Given the description of an element on the screen output the (x, y) to click on. 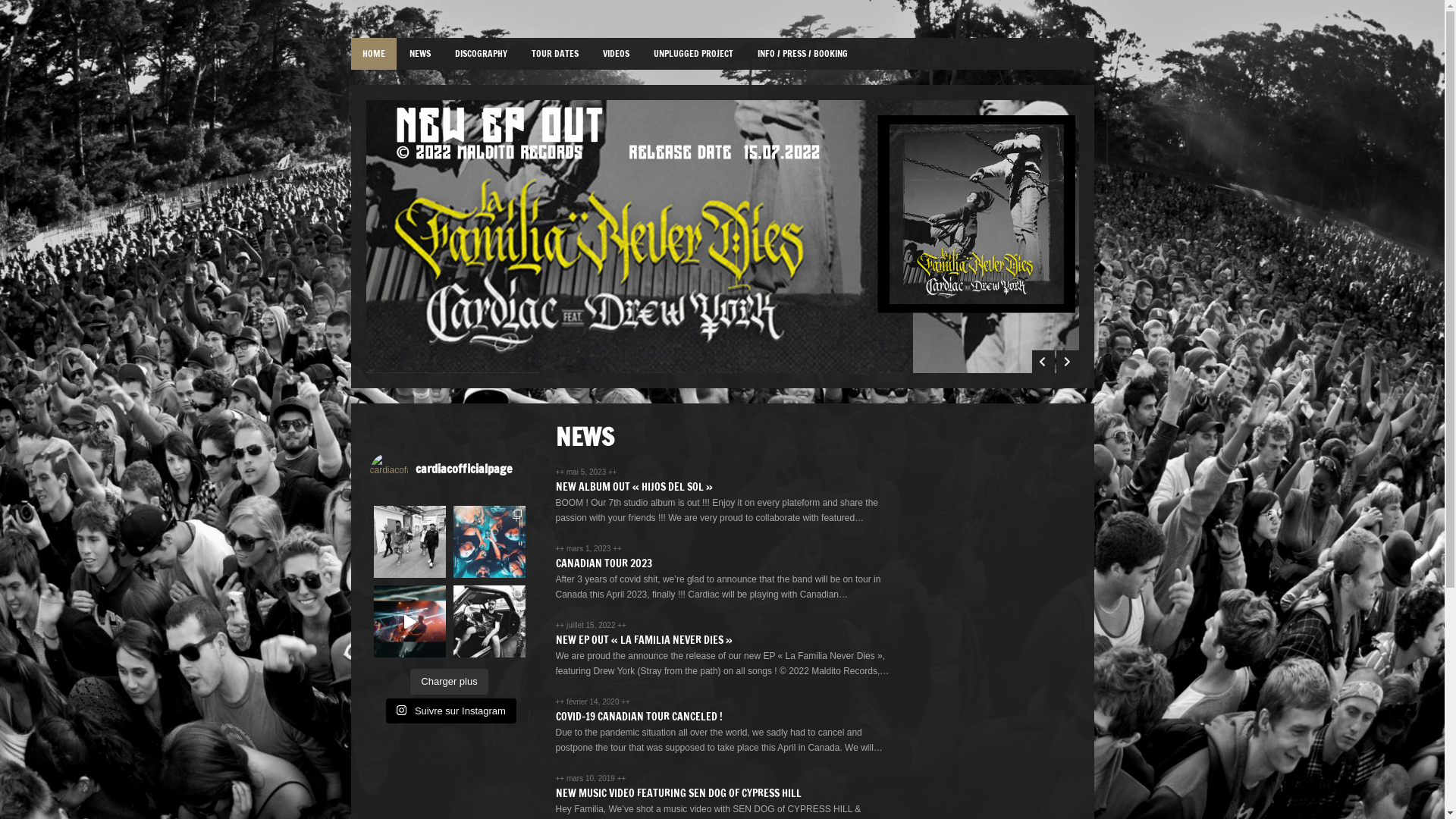
DISCOGRAPHY Element type: text (479, 53)
COVID-19 CANADIAN TOUR CANCELED ! Element type: text (638, 716)
mars 10, 2019 Element type: text (591, 778)
VIDEOS Element type: text (615, 53)
juillet 15, 2022 Element type: text (591, 625)
Suivre sur Instagram Element type: text (450, 710)
NEWS Element type: text (419, 53)
UNPLUGGED PROJECT Element type: text (692, 53)
NEW MUSIC VIDEO FEATURING SEN DOG OF CYPRESS HILL Element type: text (677, 792)
CANADIAN TOUR 2023 Element type: text (603, 563)
mai 5, 2023 Element type: text (587, 471)
TOUR DATES Element type: text (554, 53)
HOME Element type: text (372, 53)
cardiacofficialpage Element type: text (453, 471)
INFO / PRESS / BOOKING Element type: text (802, 53)
Charger plus Element type: text (448, 681)
mars 1, 2023 Element type: text (589, 548)
